Given the description of an element on the screen output the (x, y) to click on. 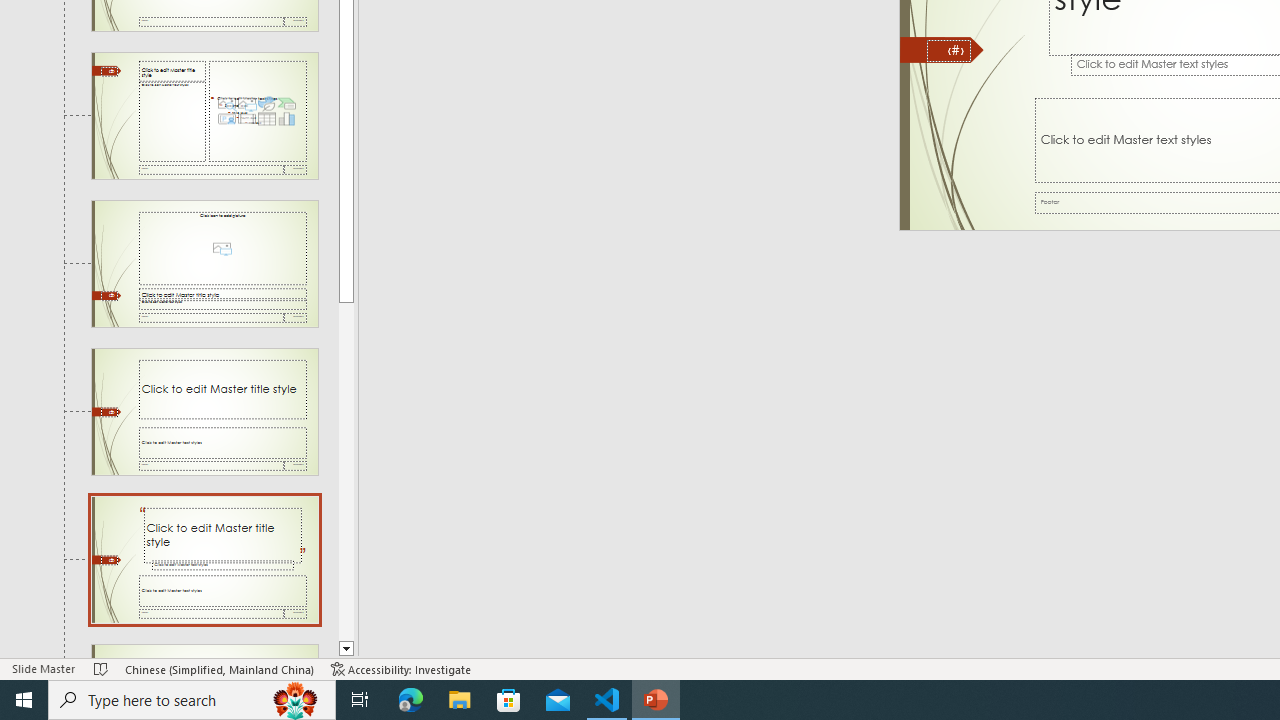
Line down (345, 649)
Slide Title and Caption Layout: used by no slides (204, 412)
Slide Number (948, 50)
Slide Content with Caption Layout: used by no slides (204, 116)
Page down (345, 470)
Slide Quote with Caption Layout: used by no slides (204, 559)
Slide Picture with Caption Layout: used by no slides (204, 263)
Slide Name Card Layout: used by no slides (204, 651)
Freeform 11 (941, 49)
